Given the description of an element on the screen output the (x, y) to click on. 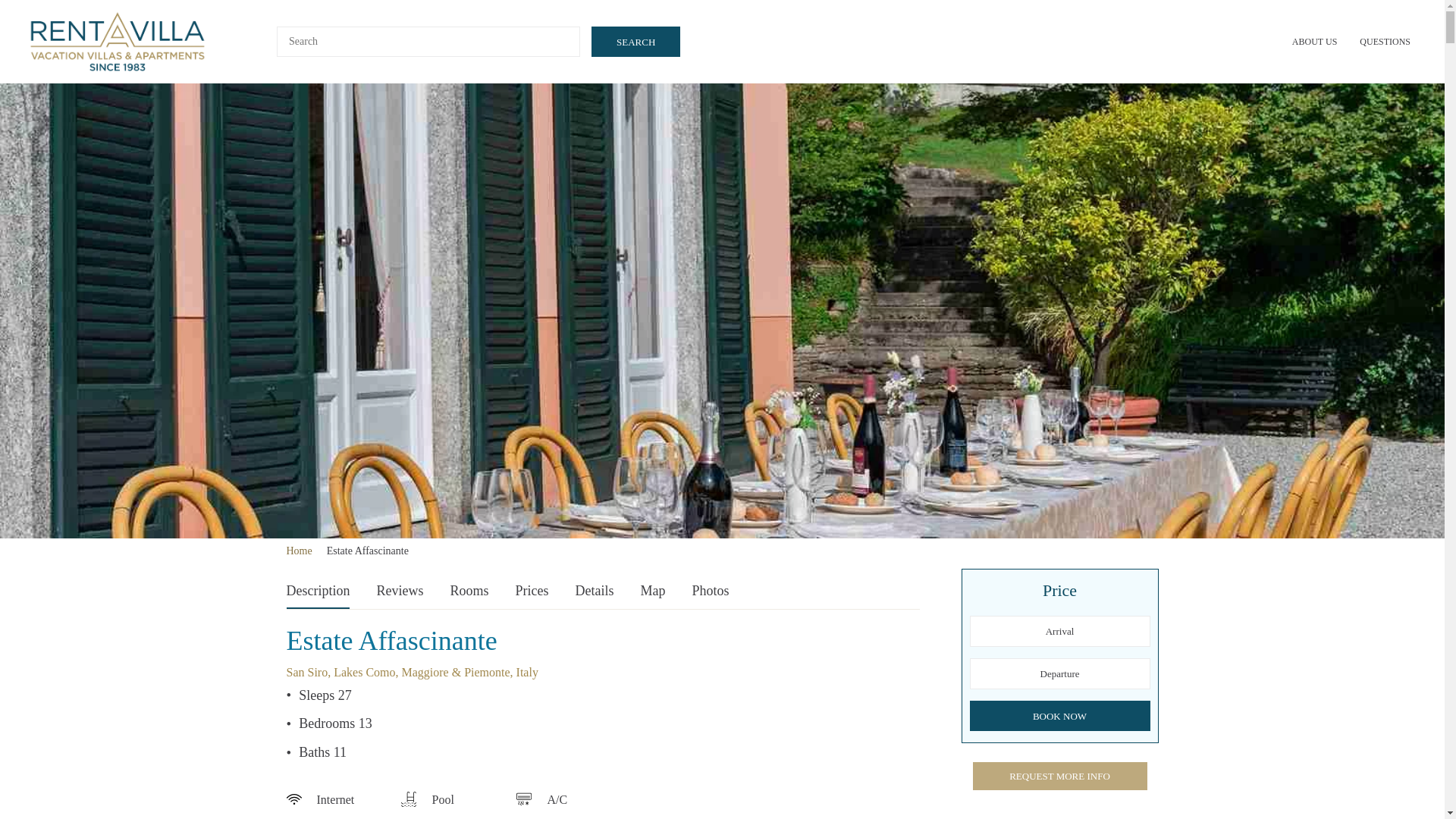
QUESTIONS (1384, 41)
ABOUT US (1314, 41)
